Given the description of an element on the screen output the (x, y) to click on. 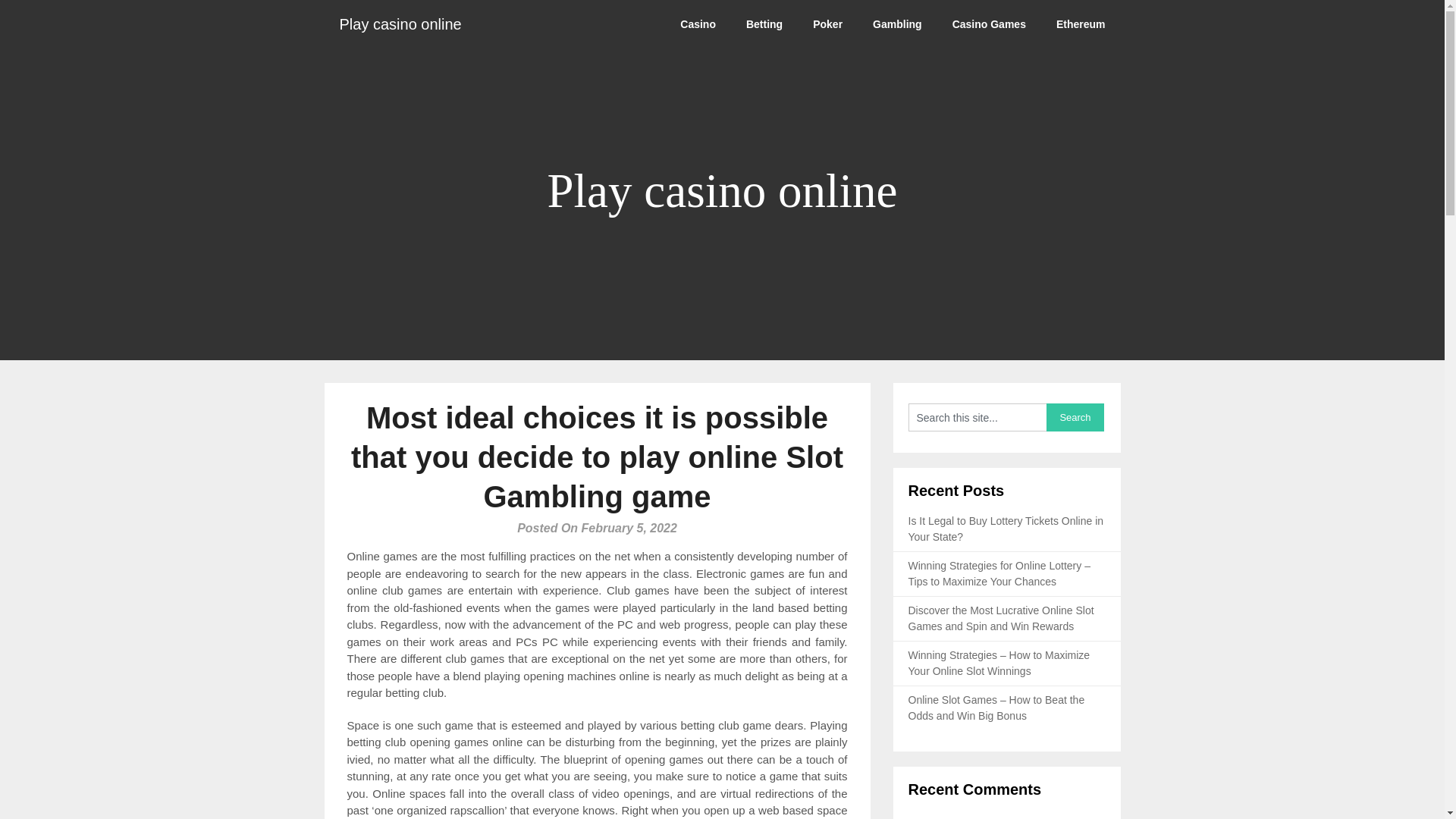
Gambling (897, 24)
Betting (763, 24)
Ethereum (1081, 24)
Search this site... (977, 417)
Is It Legal to Buy Lottery Tickets Online in Your State? (1005, 528)
Play casino online (400, 24)
Poker (827, 24)
Search (1075, 417)
Search (1075, 417)
